Given the description of an element on the screen output the (x, y) to click on. 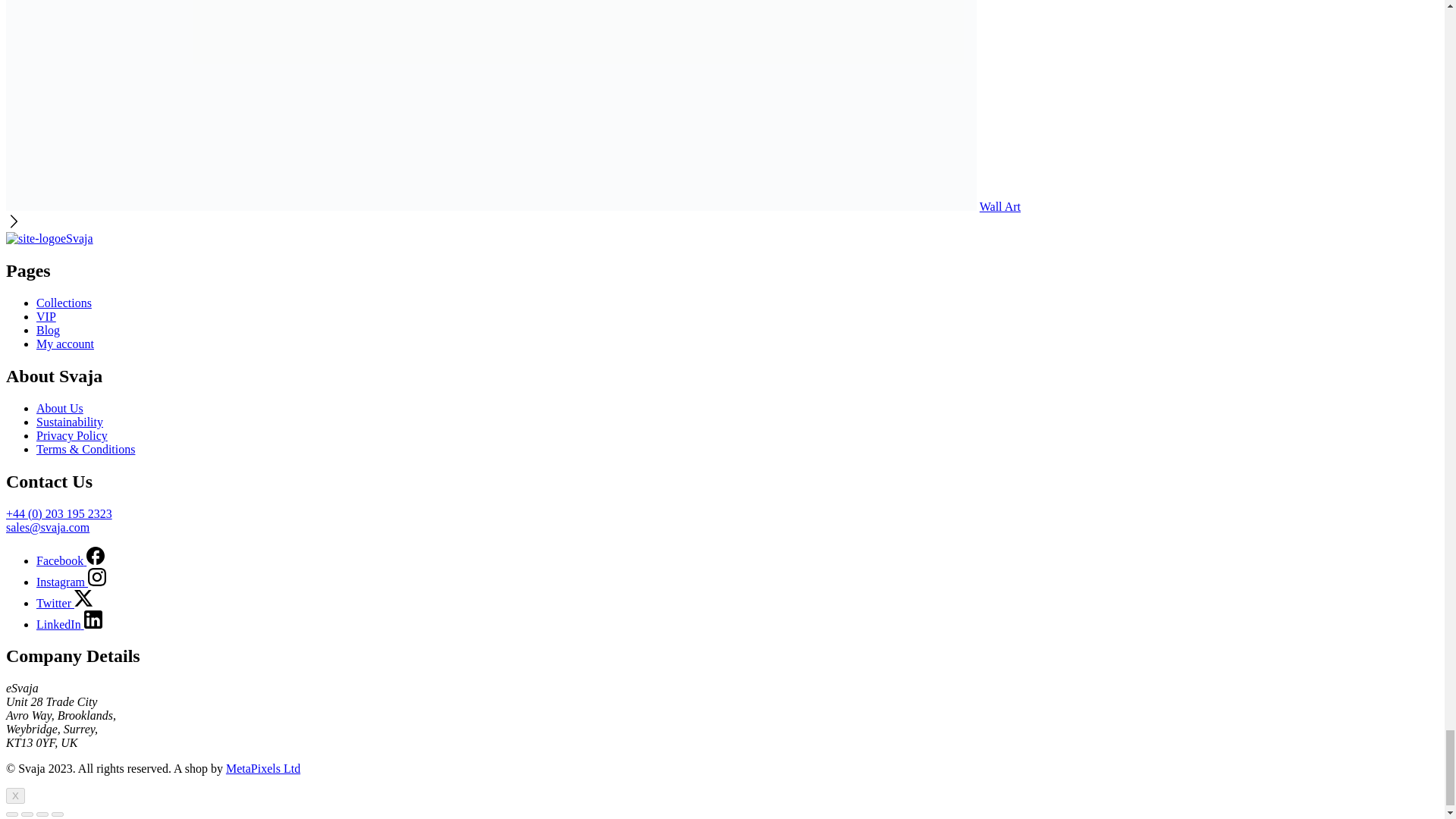
Chevron-right (13, 221)
Twitter (83, 597)
Facebook (94, 556)
Instagram (96, 577)
Linkedin (92, 619)
